Given the description of an element on the screen output the (x, y) to click on. 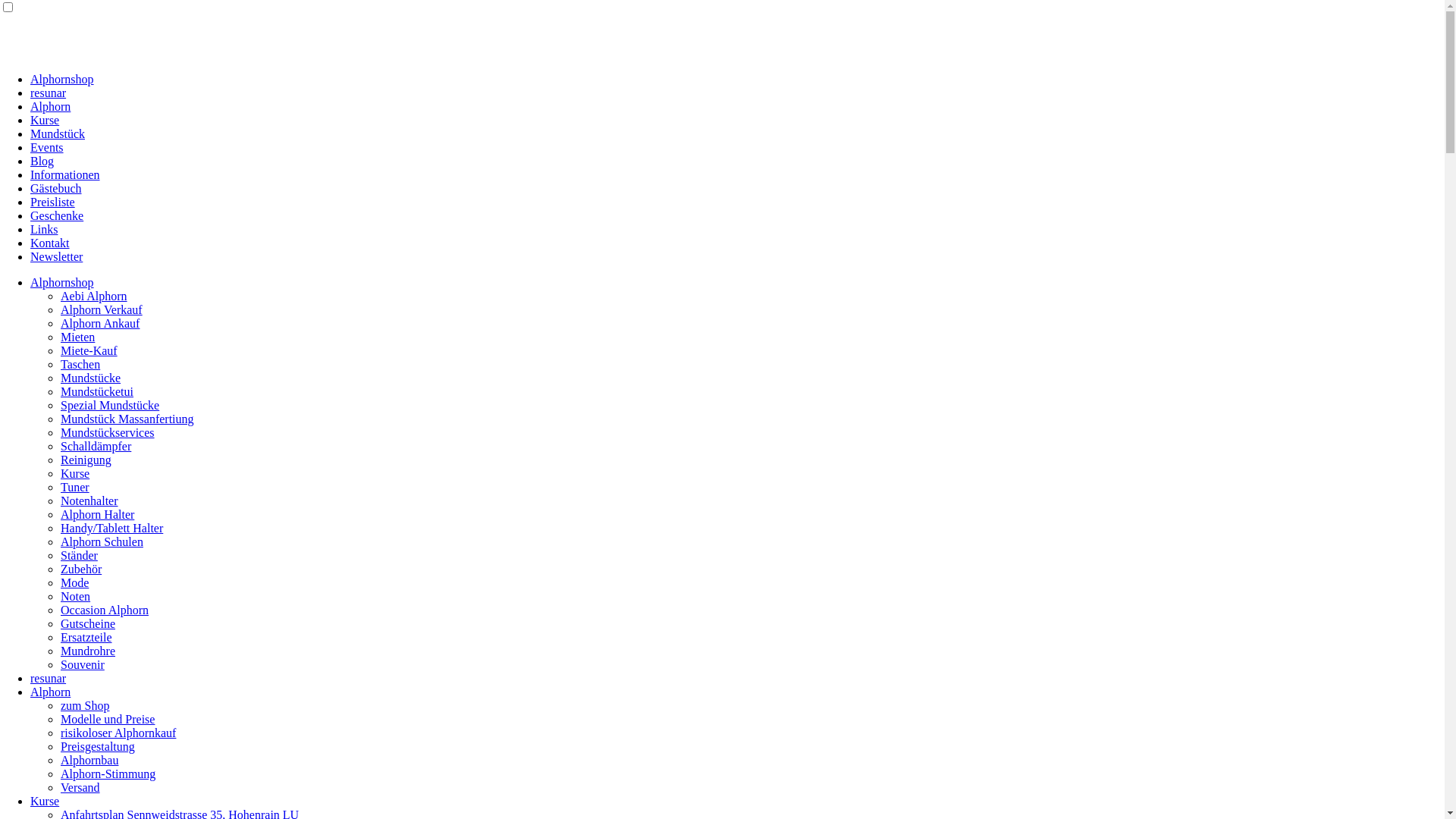
Alphorn-Stimmung Element type: text (107, 773)
Mode Element type: text (74, 582)
Preisliste Element type: text (52, 201)
Kontakt Element type: text (49, 242)
Miete-Kauf Element type: text (88, 350)
Gutscheine Element type: text (87, 623)
Mieten Element type: text (77, 336)
Aebi Alphorn Element type: text (93, 295)
Informationen Element type: text (65, 174)
Alphorn Halter Element type: text (97, 514)
resunar Element type: text (47, 92)
Alphorn Verkauf Element type: text (101, 309)
Tuner Element type: text (74, 486)
Blog Element type: text (41, 160)
Mundrohre Element type: text (87, 650)
Alphorn Element type: text (50, 691)
Notenhalter Element type: text (89, 500)
Alphornshop Element type: text (62, 282)
Taschen Element type: text (80, 363)
Ersatzteile Element type: text (86, 636)
Alphorn Ankauf Element type: text (99, 322)
Kurse Element type: text (44, 800)
zum Shop Element type: text (84, 705)
Alphornshop Element type: text (62, 78)
Occasion Alphorn Element type: text (104, 609)
resunar Element type: text (47, 677)
Links Element type: text (43, 228)
Kurse Element type: text (44, 119)
Alphorn Schulen Element type: text (101, 541)
Alphornbau Element type: text (89, 759)
risikoloser Alphornkauf Element type: text (117, 732)
Newsletter Element type: text (56, 256)
Kurse Element type: text (74, 473)
Events Element type: text (46, 147)
Souvenir Element type: text (82, 664)
Modelle und Preise Element type: text (107, 718)
Alphorn Element type: text (50, 106)
Reinigung Element type: text (85, 459)
Preisgestaltung Element type: text (97, 746)
Noten Element type: text (75, 595)
Geschenke Element type: text (56, 215)
Versand Element type: text (80, 787)
Handy/Tablett Halter Element type: text (111, 527)
